Given the description of an element on the screen output the (x, y) to click on. 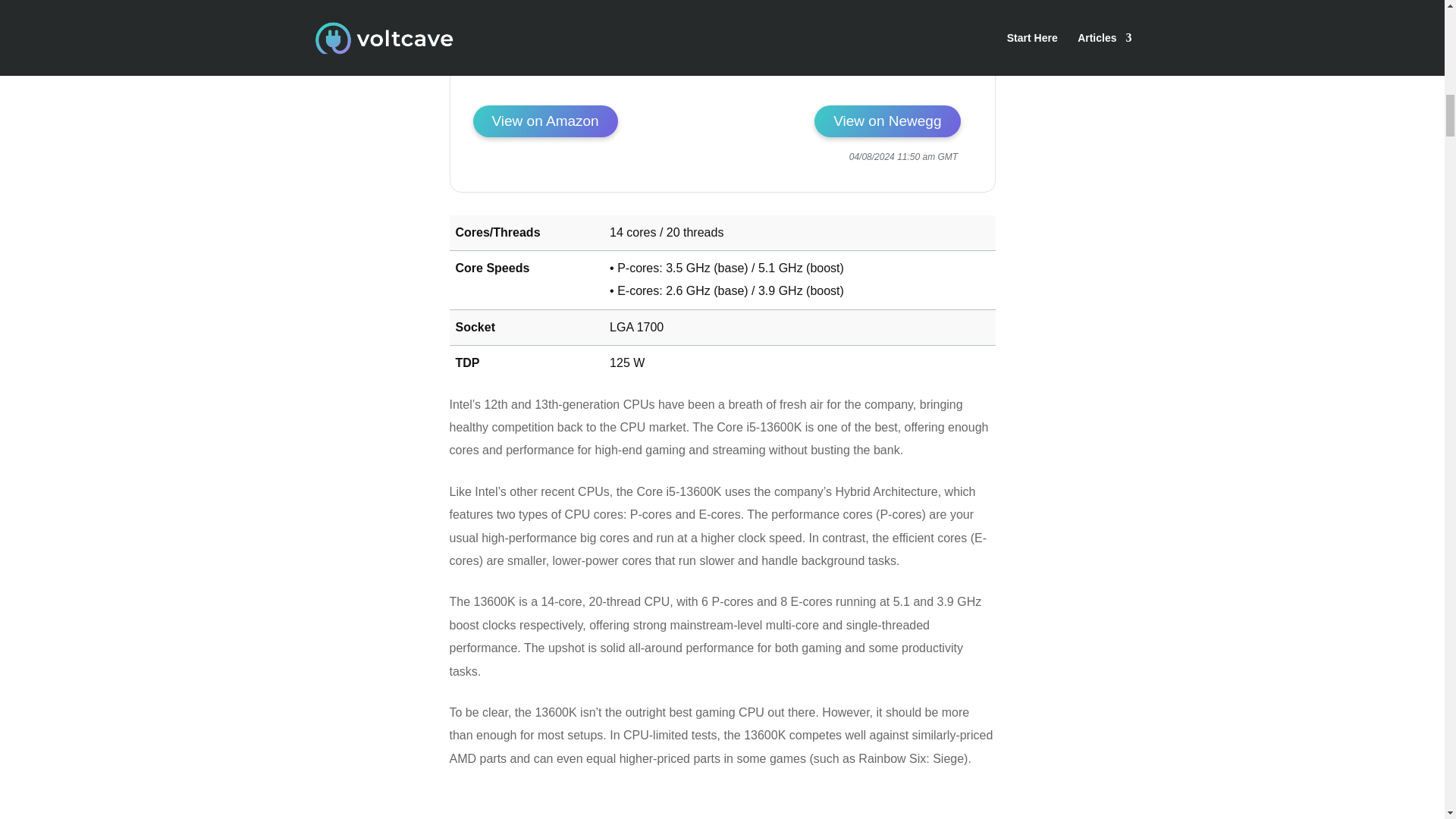
Intel Core i5-13600K Desktop Processor (901, 86)
View on Amazon (545, 121)
Intel Core i5-13600K Desktop Processor (886, 121)
View on Newegg (886, 121)
Intel Core i5-13600K Desktop Processor (545, 121)
